Given the description of an element on the screen output the (x, y) to click on. 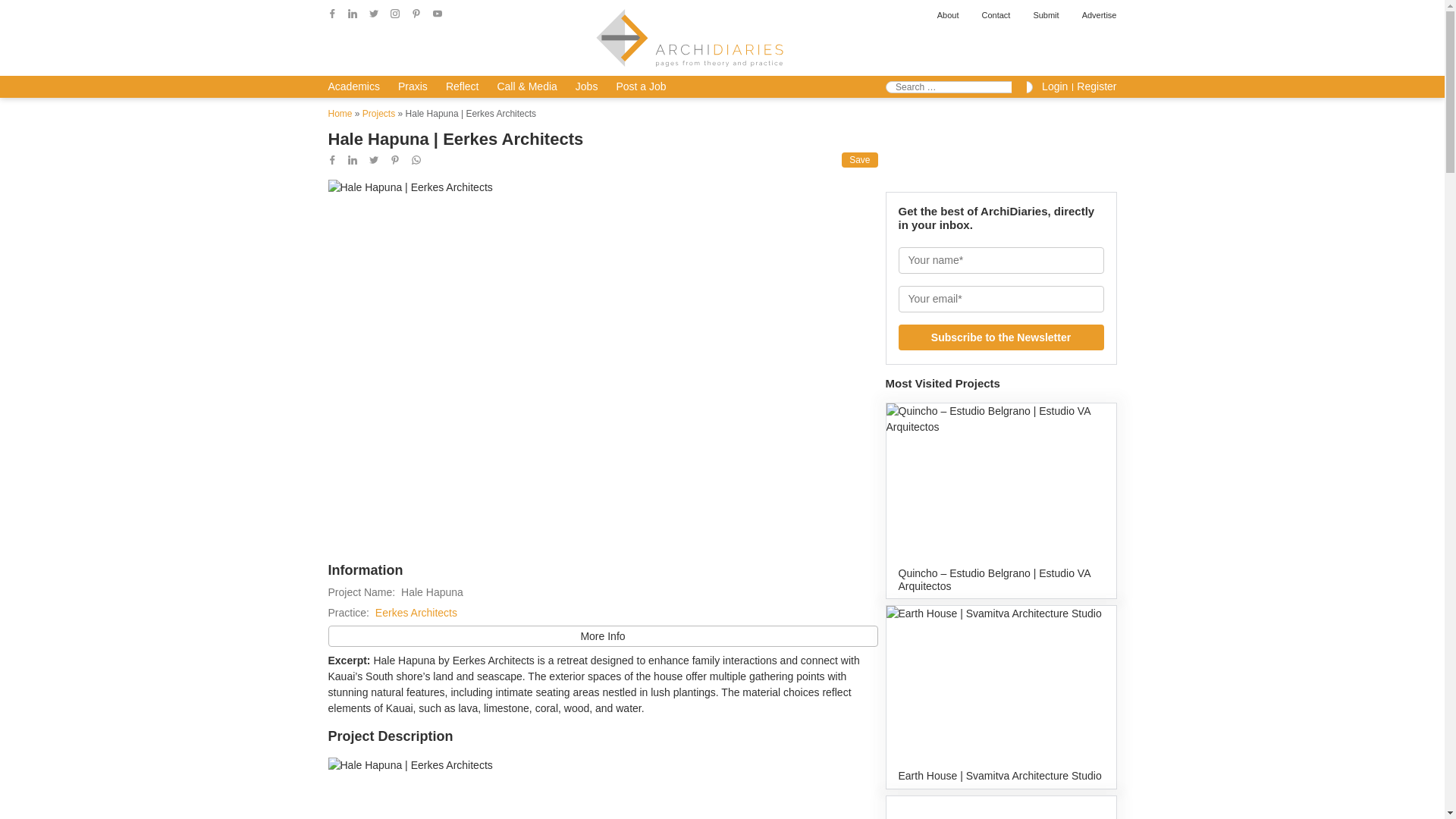
About (948, 15)
Praxis (412, 86)
Linkedin (351, 13)
Twitter (373, 159)
Facebook (331, 13)
Post a Job (640, 86)
Jobs (586, 86)
Reflect (462, 86)
Login (1054, 86)
Search (1018, 86)
